Given the description of an element on the screen output the (x, y) to click on. 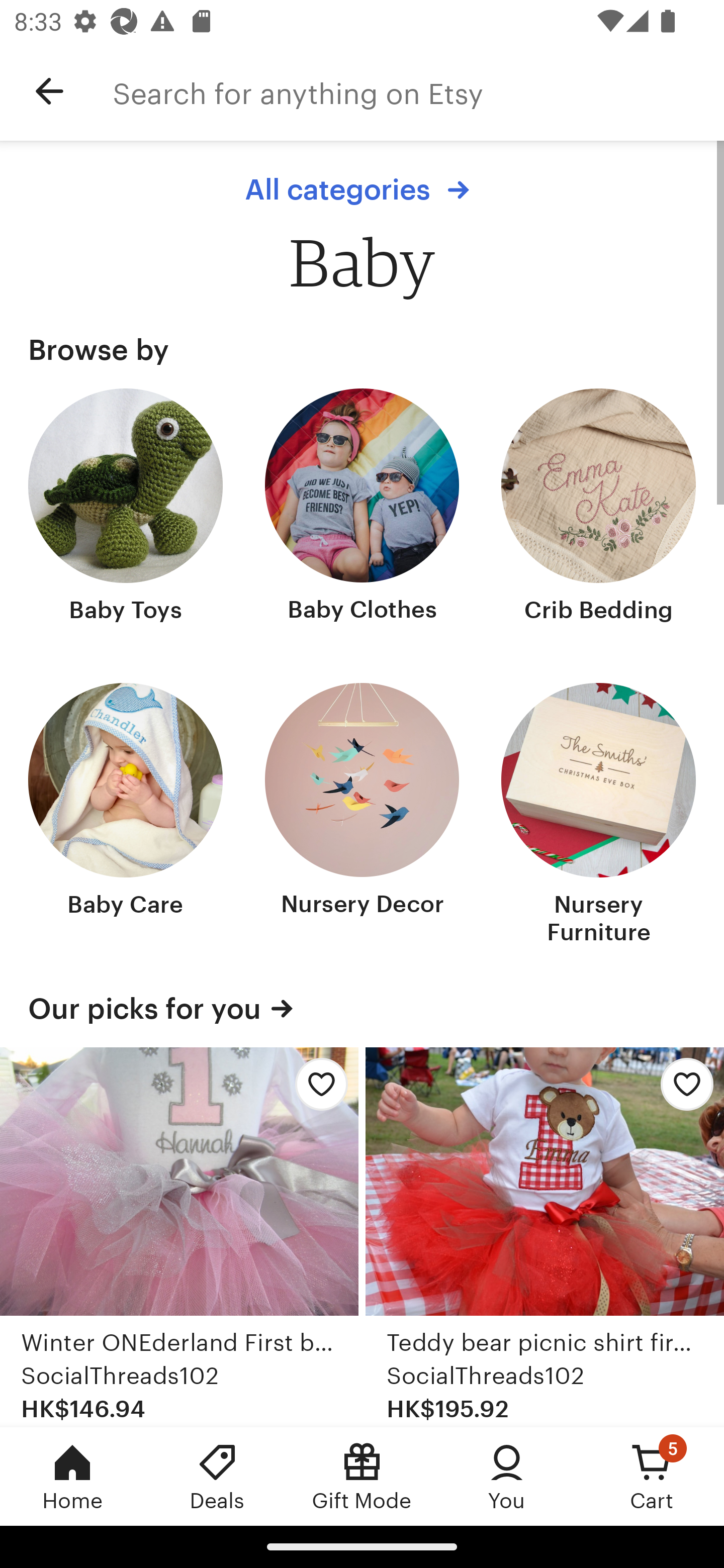
Navigate up (49, 91)
Search for anything on Etsy (418, 91)
All categories (361, 189)
Baby Toys (125, 507)
Baby Clothes (361, 507)
Crib Bedding (598, 507)
Baby Care (125, 815)
Nursery Decor (361, 815)
Nursery Furniture (598, 815)
Our picks for you  (361, 1008)
Deals (216, 1475)
Gift Mode (361, 1475)
You (506, 1475)
Cart, 5 new notifications Cart (651, 1475)
